Given the description of an element on the screen output the (x, y) to click on. 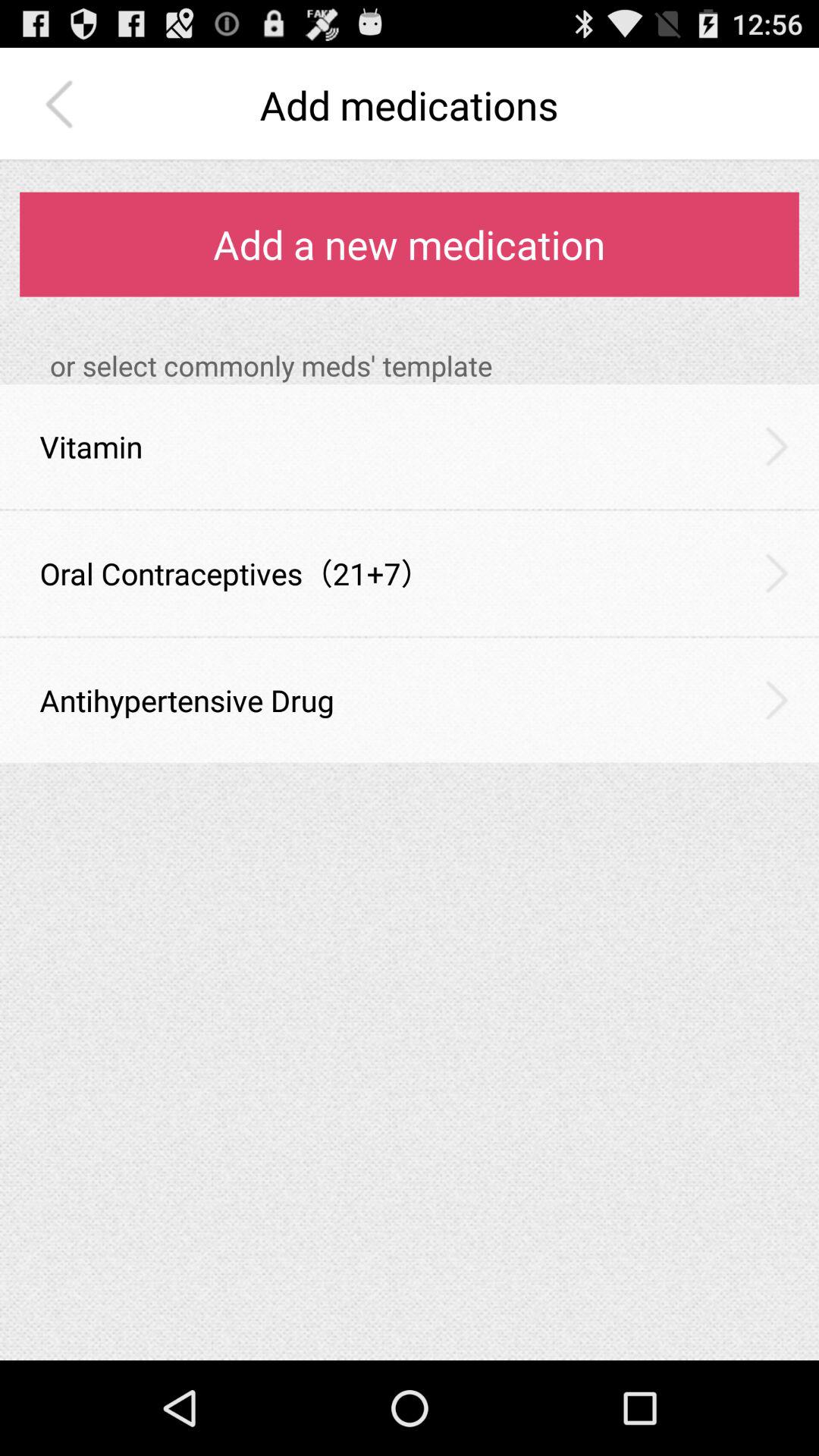
jump until or select commonly icon (424, 365)
